Given the description of an element on the screen output the (x, y) to click on. 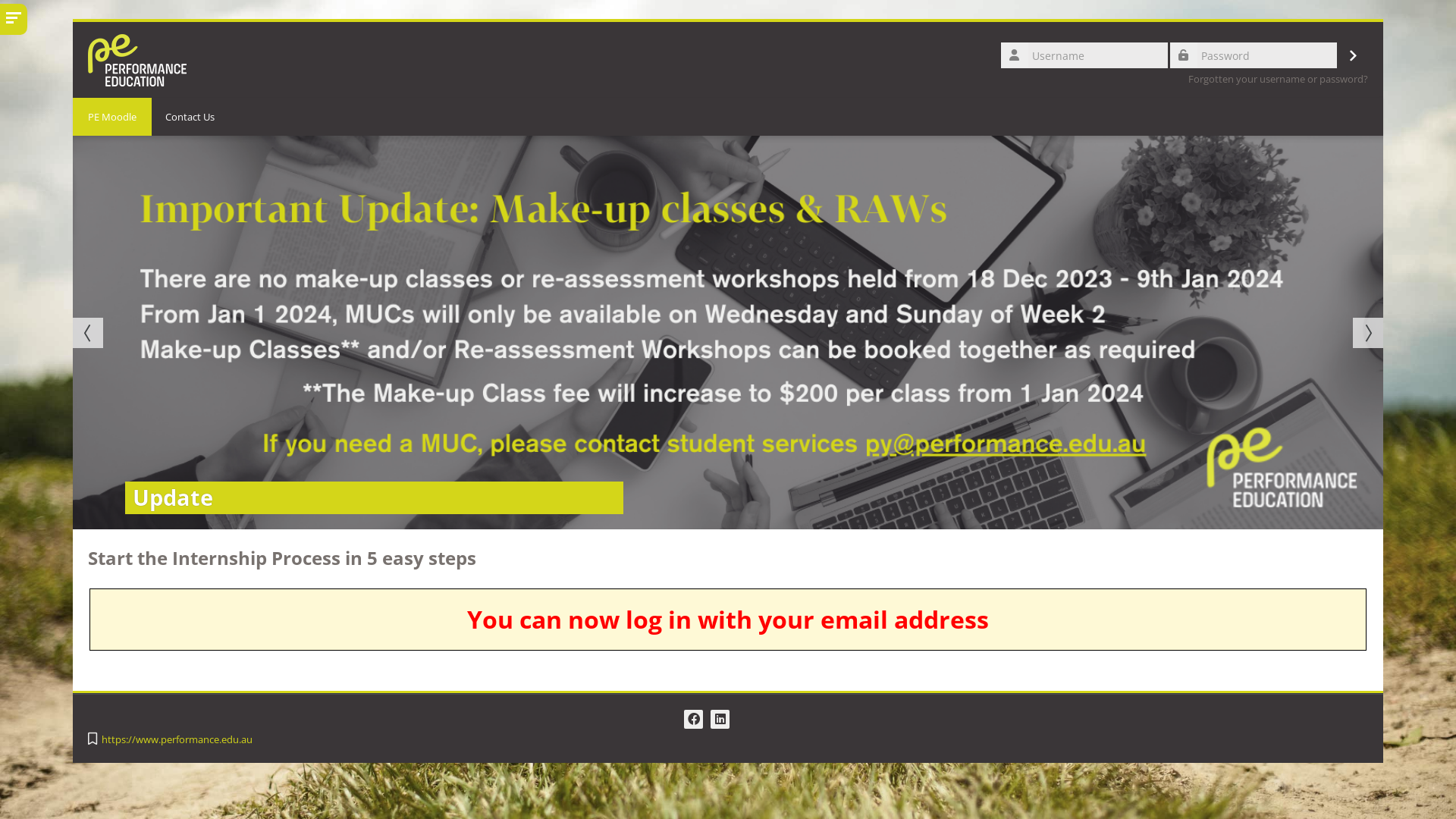
Contact Us Element type: text (189, 116)
Start the Internship Process in 5 easy steps Element type: text (281, 557)
Forgotten your username or password? Element type: text (1278, 78)
Home Element type: hover (136, 58)
Log in Element type: text (1353, 55)
https://www.performance.edu.au Element type: text (182, 739)
PE Moodle Element type: text (111, 116)
